Given the description of an element on the screen output the (x, y) to click on. 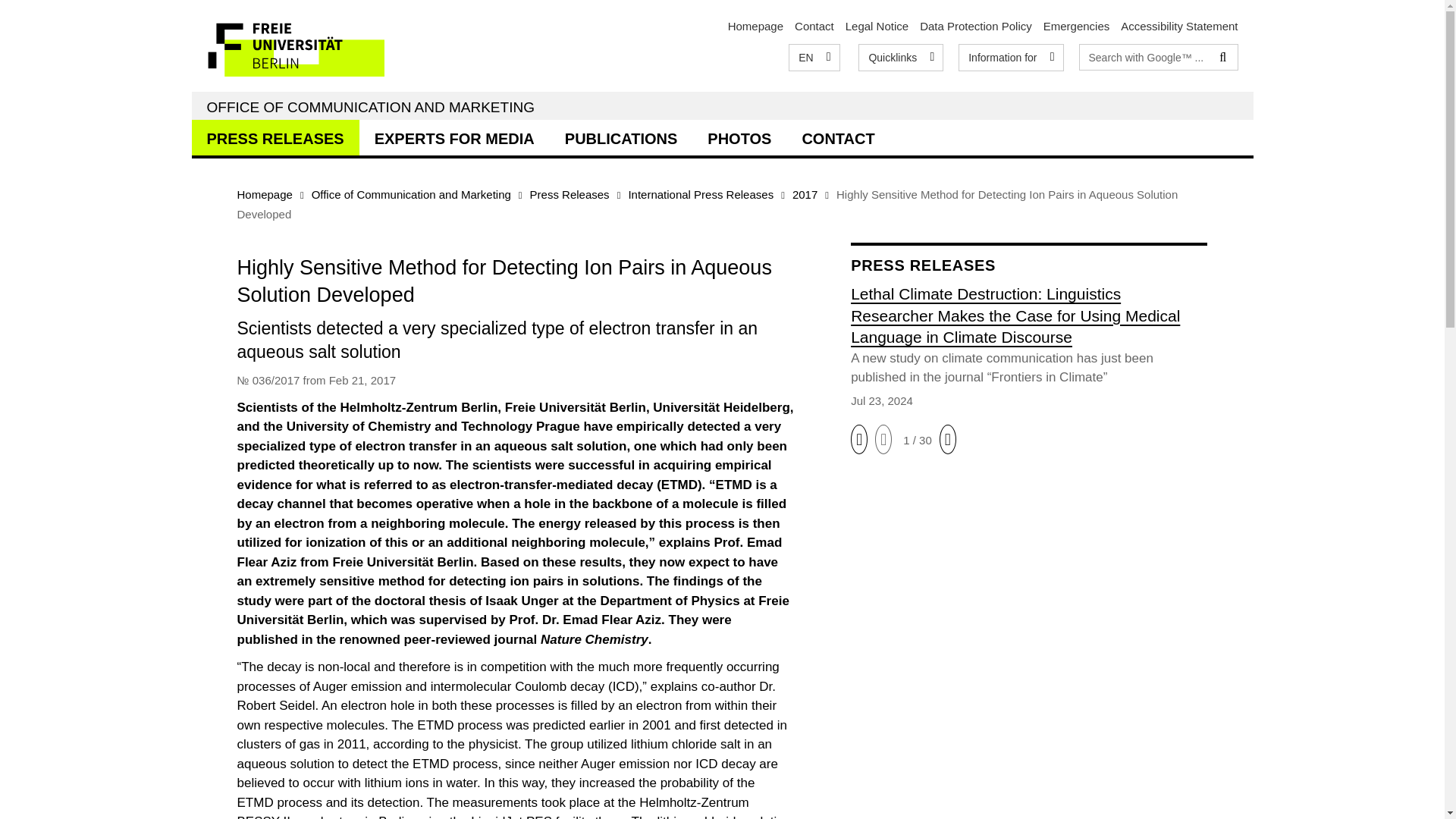
Data Protection Policy (976, 25)
Contact (814, 25)
Accessibility Statement (1179, 25)
Contact (814, 25)
Homepage (755, 25)
Emergencies (1076, 25)
Legal Notice (876, 25)
